Given the description of an element on the screen output the (x, y) to click on. 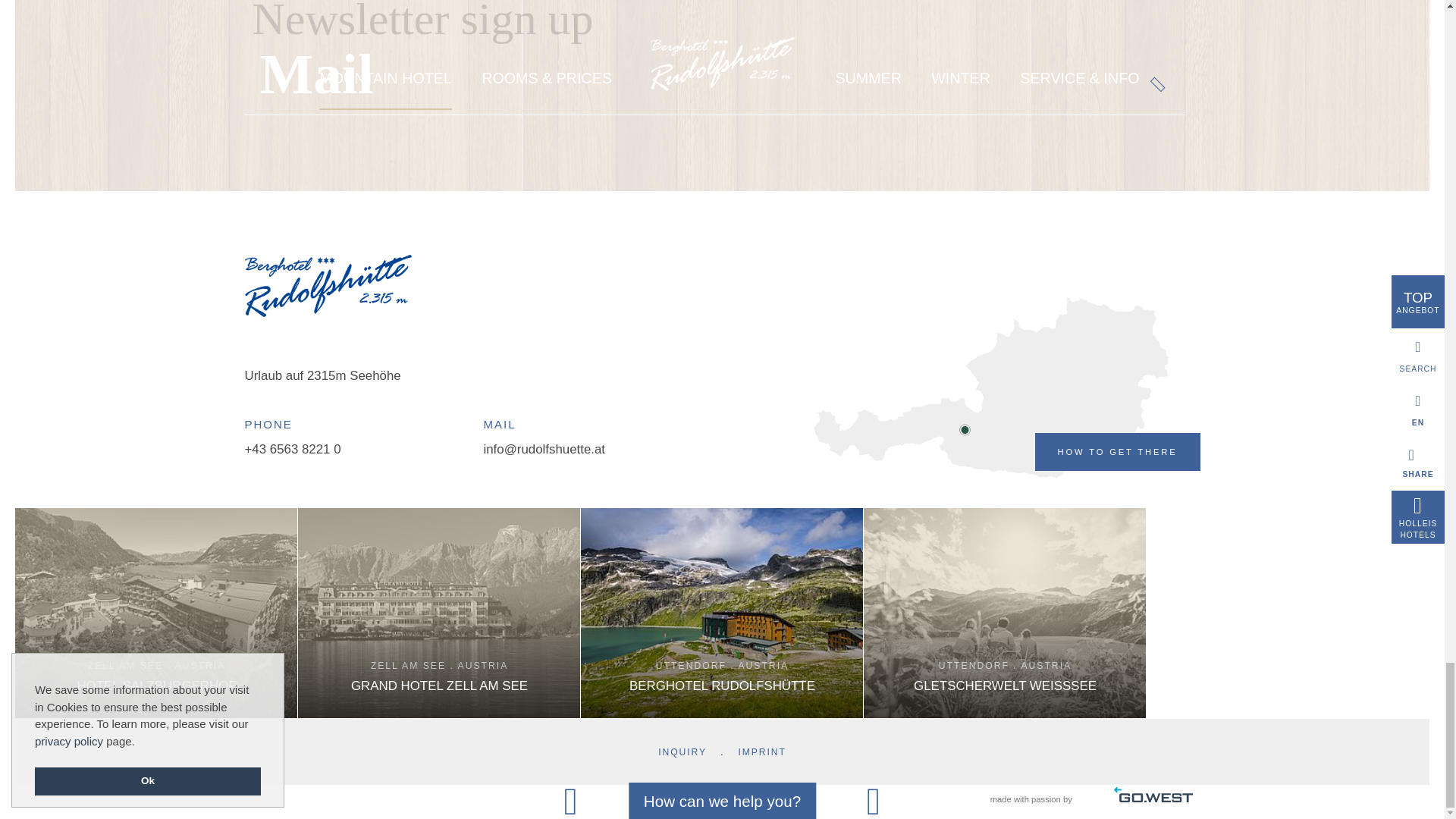
Imprint (762, 751)
Hotel Salzburgerhof (156, 612)
Inquiry (682, 751)
Grand Hotel Zell am See (439, 612)
